Given the description of an element on the screen output the (x, y) to click on. 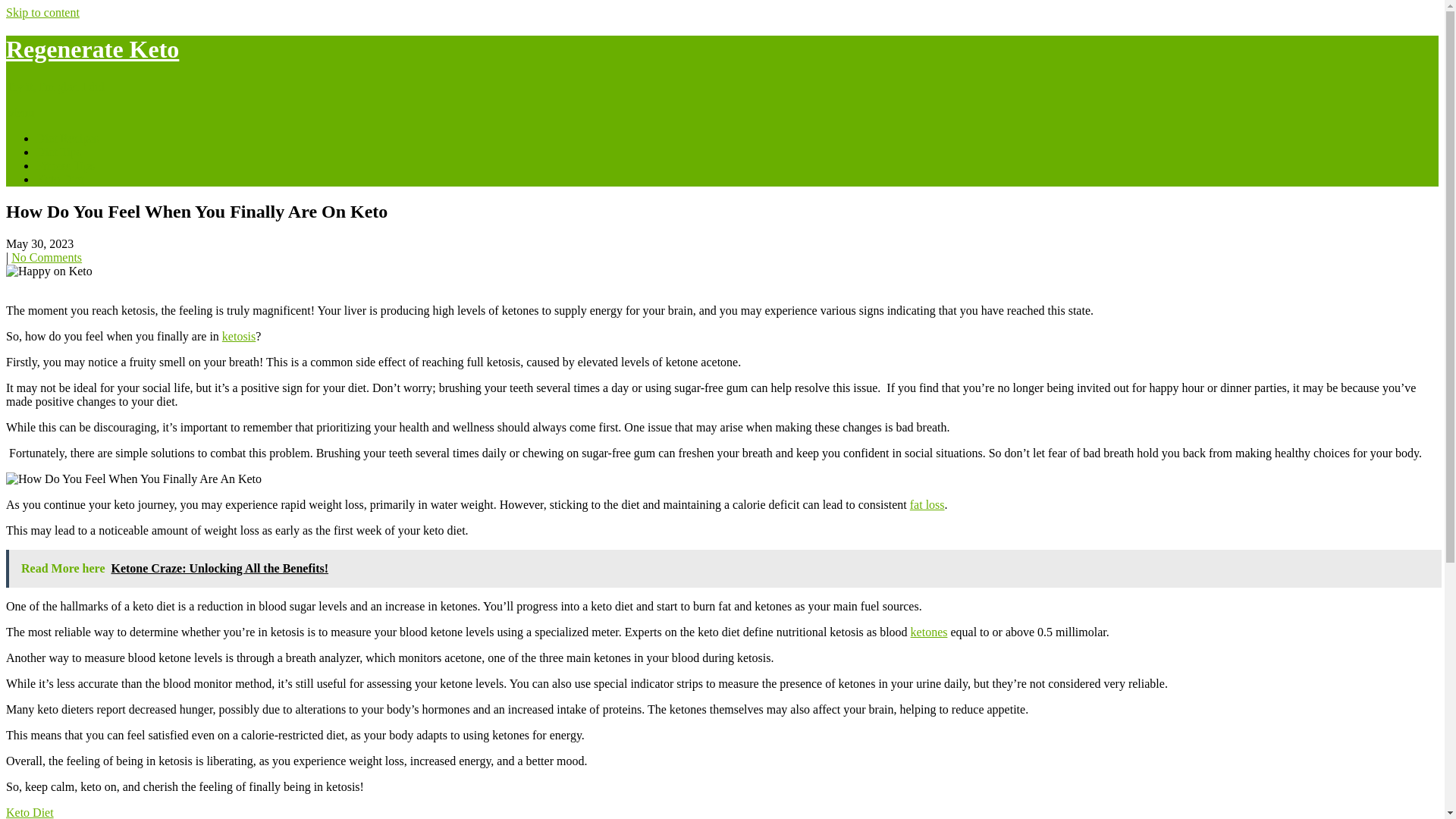
ketosis (239, 336)
Diet Tips (58, 151)
Skip to content (42, 11)
Diet Recipes (67, 137)
fat loss (927, 504)
ketones (929, 631)
No Comments (46, 256)
Fitness Tips (65, 164)
Keto Diet (60, 178)
Menu (19, 112)
